Given the description of an element on the screen output the (x, y) to click on. 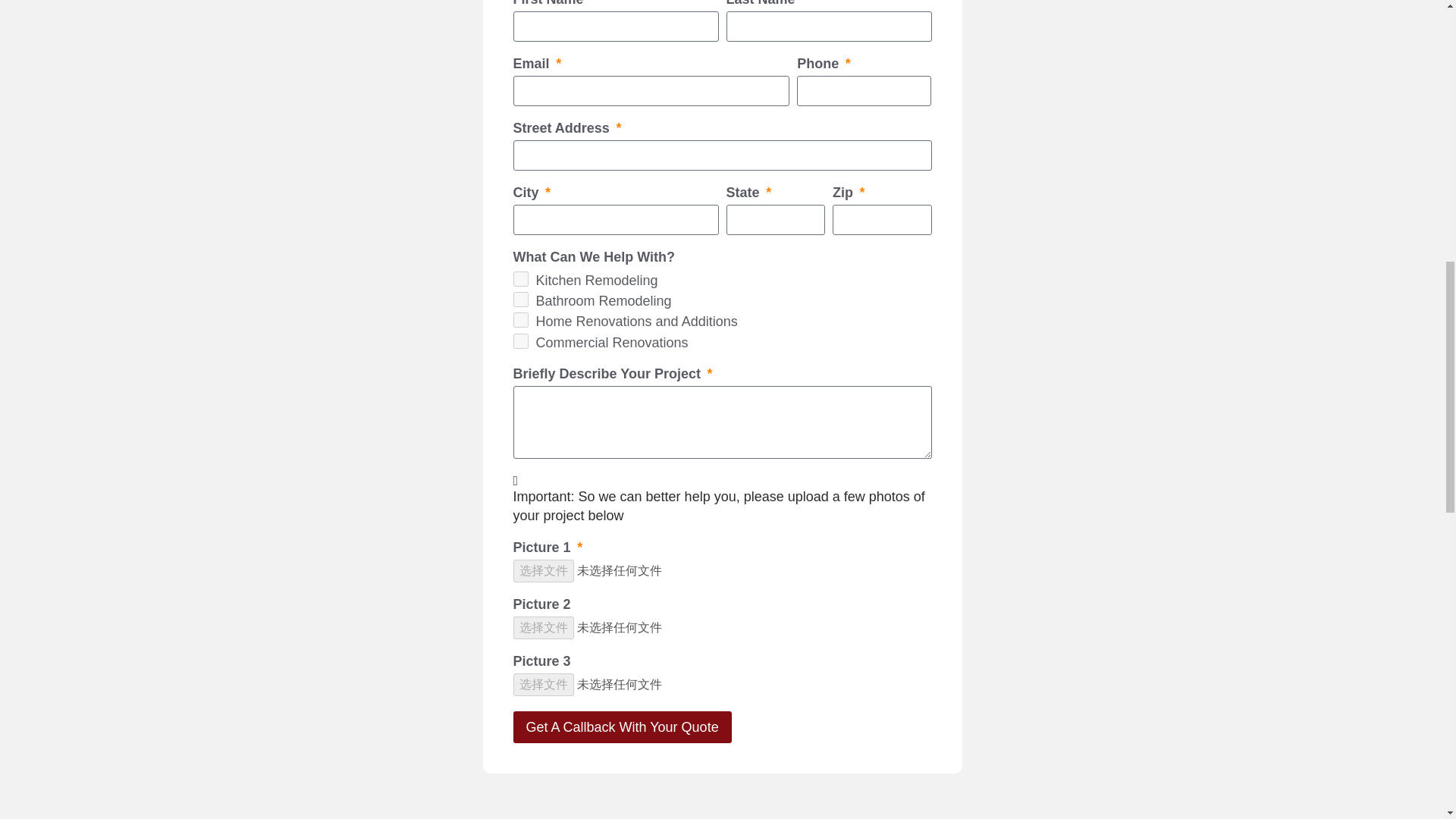
Bathroom Remodeling (519, 299)
Get A Callback With Your Quote (621, 726)
Commercial Renovations (519, 340)
Home Renovations and Additions (519, 319)
Kitchen Remodeling (519, 278)
